Given the description of an element on the screen output the (x, y) to click on. 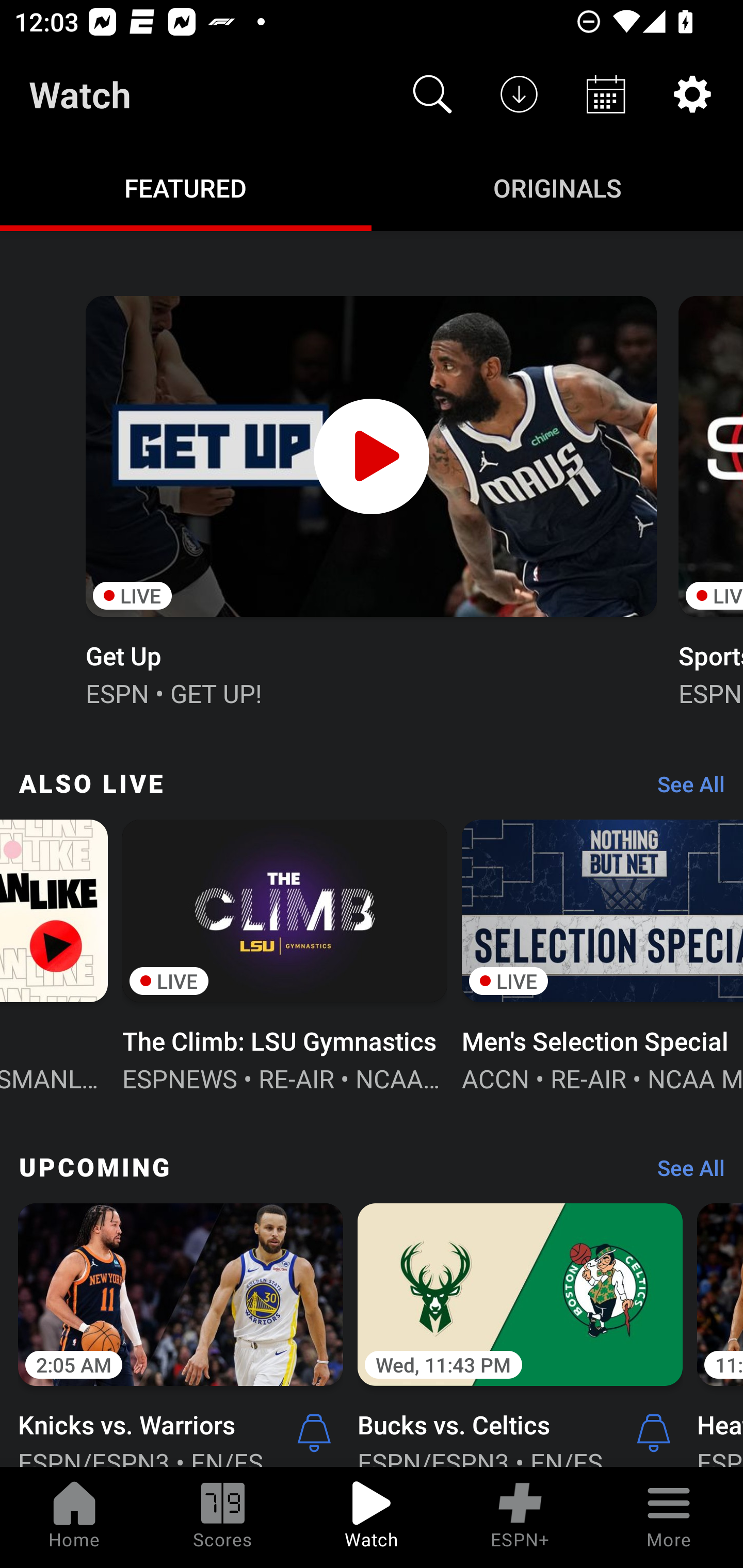
Search (432, 93)
Downloads (518, 93)
Schedule (605, 93)
Settings (692, 93)
Originals ORIGINALS (557, 187)
 LIVE Get Up ESPN • GET UP! (370, 499)
See All (683, 788)
See All (683, 1172)
Alerts (314, 1432)
Alerts (653, 1432)
Home (74, 1517)
Scores (222, 1517)
ESPN+ (519, 1517)
More (668, 1517)
